Given the description of an element on the screen output the (x, y) to click on. 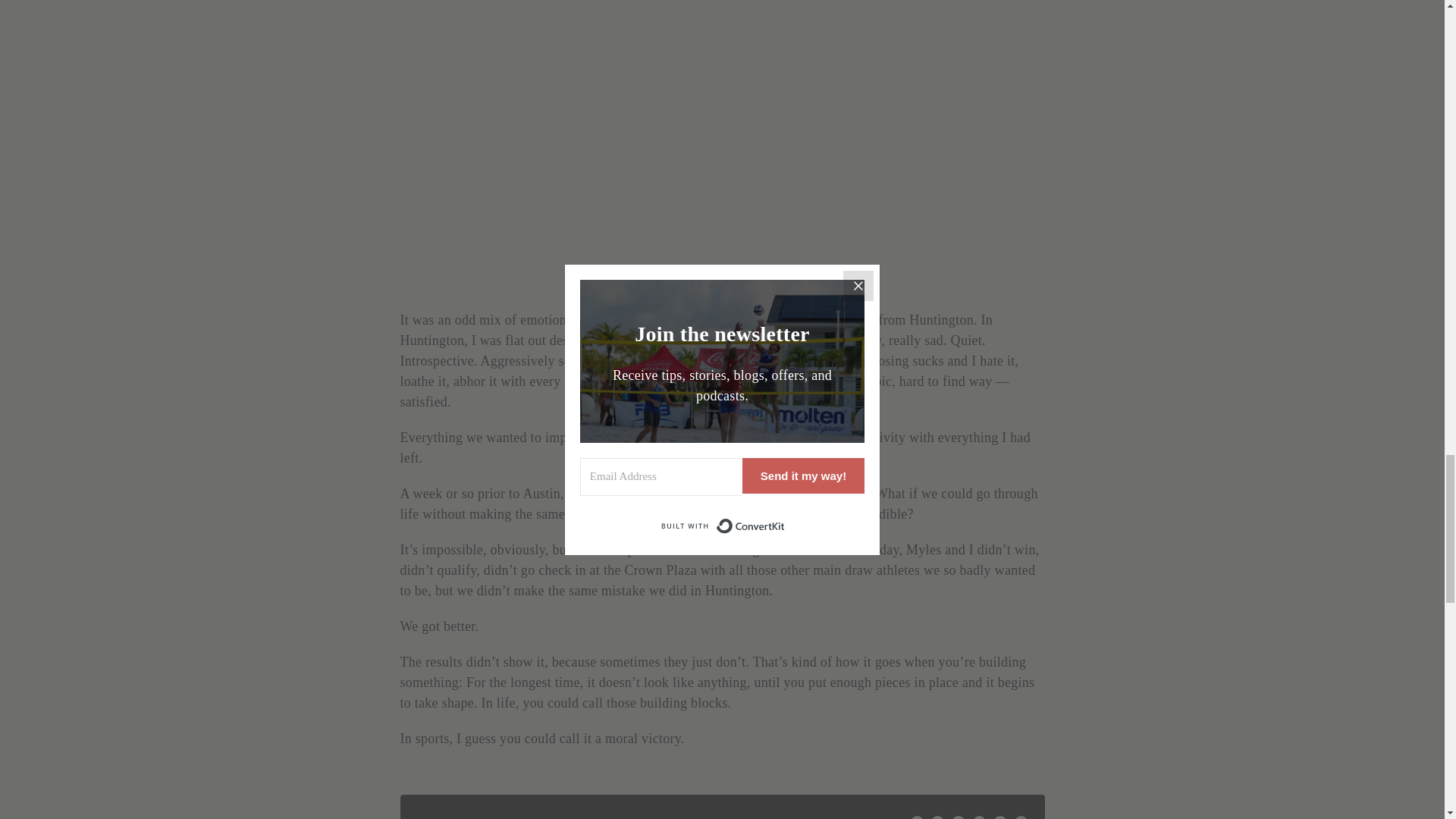
WhatsApp (978, 817)
Telegram (999, 817)
LinkedIn (957, 817)
Email (1020, 817)
Twitter (937, 817)
Facebook (917, 817)
